Given the description of an element on the screen output the (x, y) to click on. 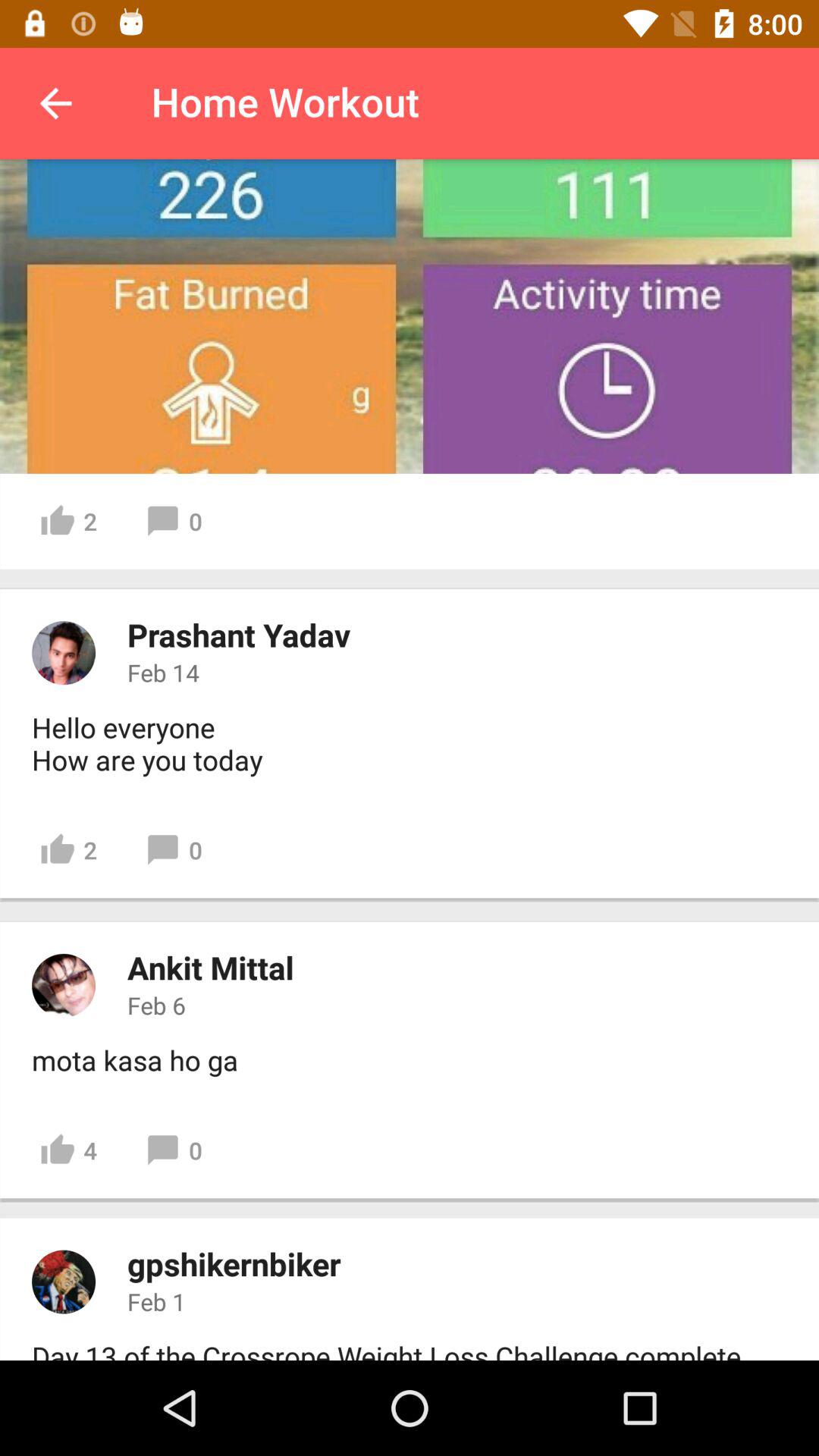
open icon above feb 1 (233, 1263)
